Given the description of an element on the screen output the (x, y) to click on. 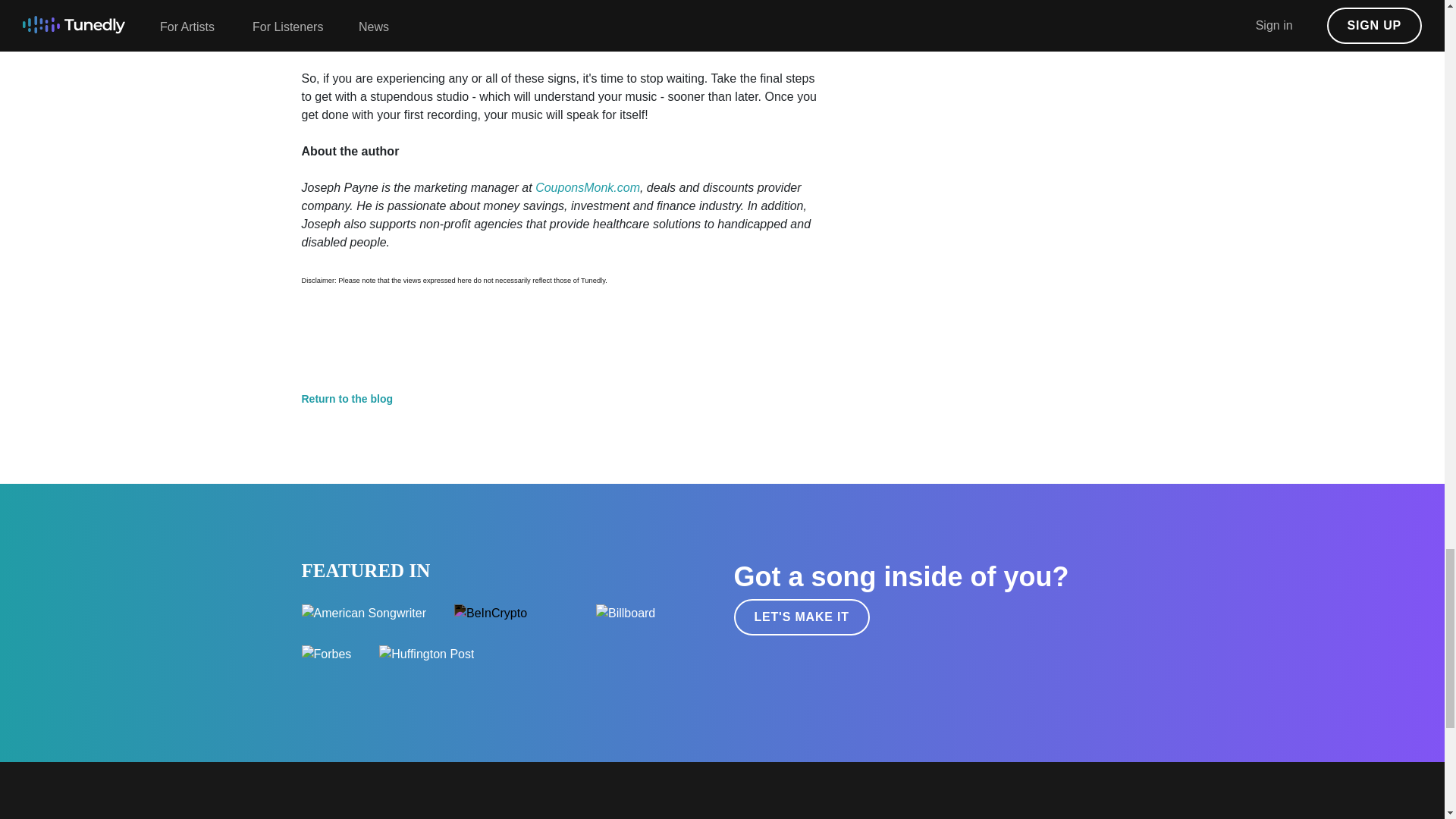
LET'S MAKE IT (801, 616)
Return to the blog (347, 398)
CouponsMonk.com (587, 187)
